Given the description of an element on the screen output the (x, y) to click on. 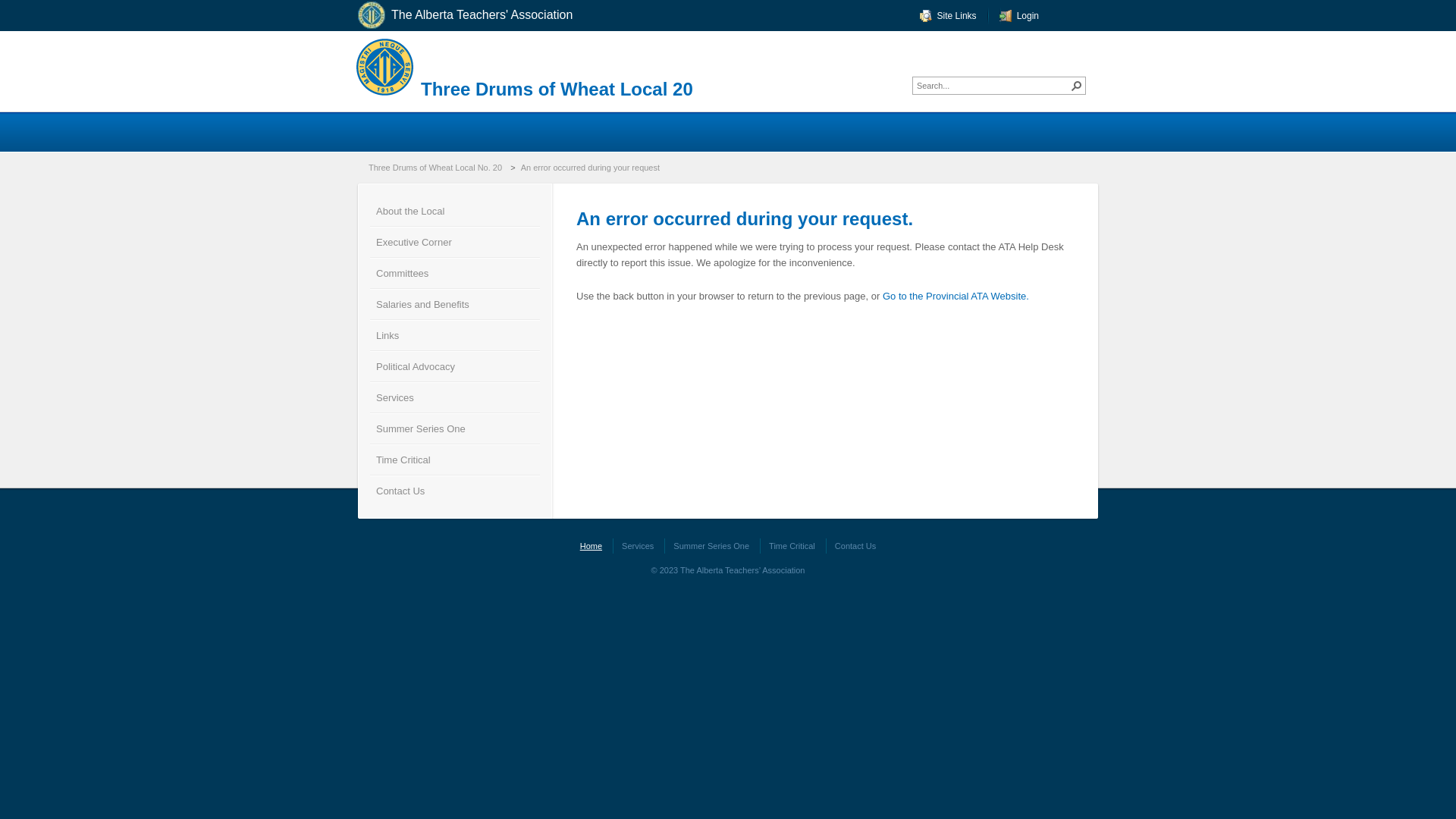
Contact Us Element type: text (454, 489)
Search Element type: hover (1076, 85)
Site Links Element type: text (947, 15)
Services Element type: text (454, 396)
Time Critical Element type: text (791, 545)
Committees Element type: text (454, 272)
An error occurred during your request Element type: text (591, 167)
Contact Us Element type: text (854, 545)
Home Element type: text (590, 545)
Links Element type: text (454, 334)
Services Element type: text (637, 545)
Three Drums of Wheat Local No. 20 Element type: text (436, 167)
Three Drums of Wheat Local 20 Element type: text (556, 88)
Go to the Provincial ATA Website. Element type: text (955, 295)
Login Element type: text (1018, 15)
About the Local Element type: text (454, 209)
Summer Series One Element type: text (454, 427)
Executive Corner Element type: text (454, 241)
Time Critical Element type: text (454, 458)
Summer Series One Element type: text (710, 545)
The Alberta Teachers' Association Element type: text (475, 15)
Search... Element type: hover (992, 85)
Salaries and Benefits Element type: text (454, 303)
Political Advocacy Element type: text (454, 365)
